Given the description of an element on the screen output the (x, y) to click on. 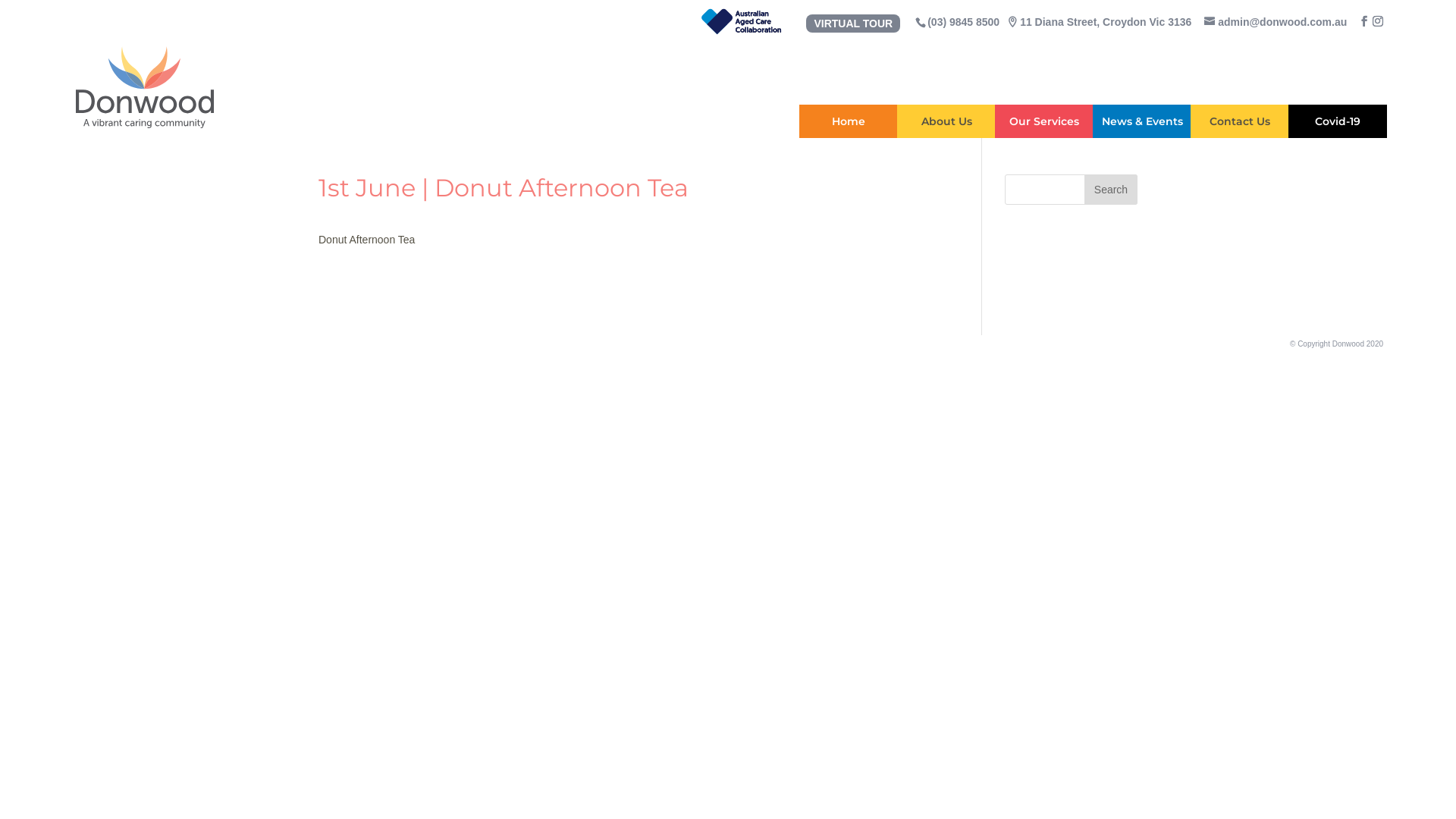
Our Services Element type: text (1043, 121)
News & Events Element type: text (1141, 121)
About Us Element type: text (946, 121)
Home Element type: text (848, 121)
VIRTUAL TOUR Element type: text (853, 22)
Contact Us Element type: text (1239, 121)
admin@donwood.com.au Element type: text (1275, 21)
Covid-19 Element type: text (1337, 121)
Search Element type: text (1110, 189)
